Given the description of an element on the screen output the (x, y) to click on. 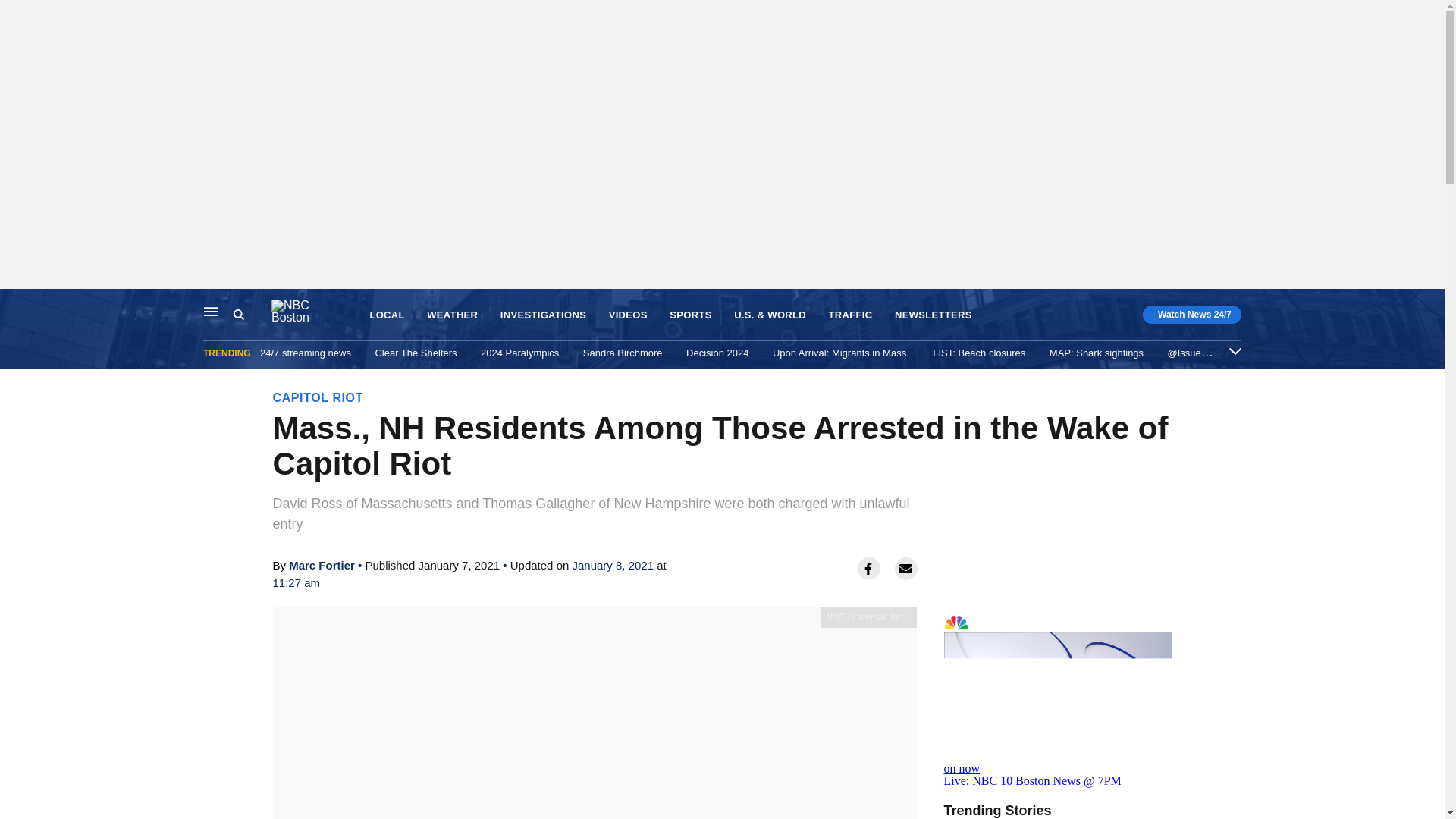
Main Navigation (210, 311)
Search (238, 314)
Sandra Birchmore (622, 352)
VIDEOS (627, 315)
LOCAL (386, 315)
Skip to content (16, 304)
2024 Paralympics (519, 352)
NEWSLETTERS (933, 315)
Marc Fortier (321, 564)
CAPITOL RIOT (318, 397)
